Given the description of an element on the screen output the (x, y) to click on. 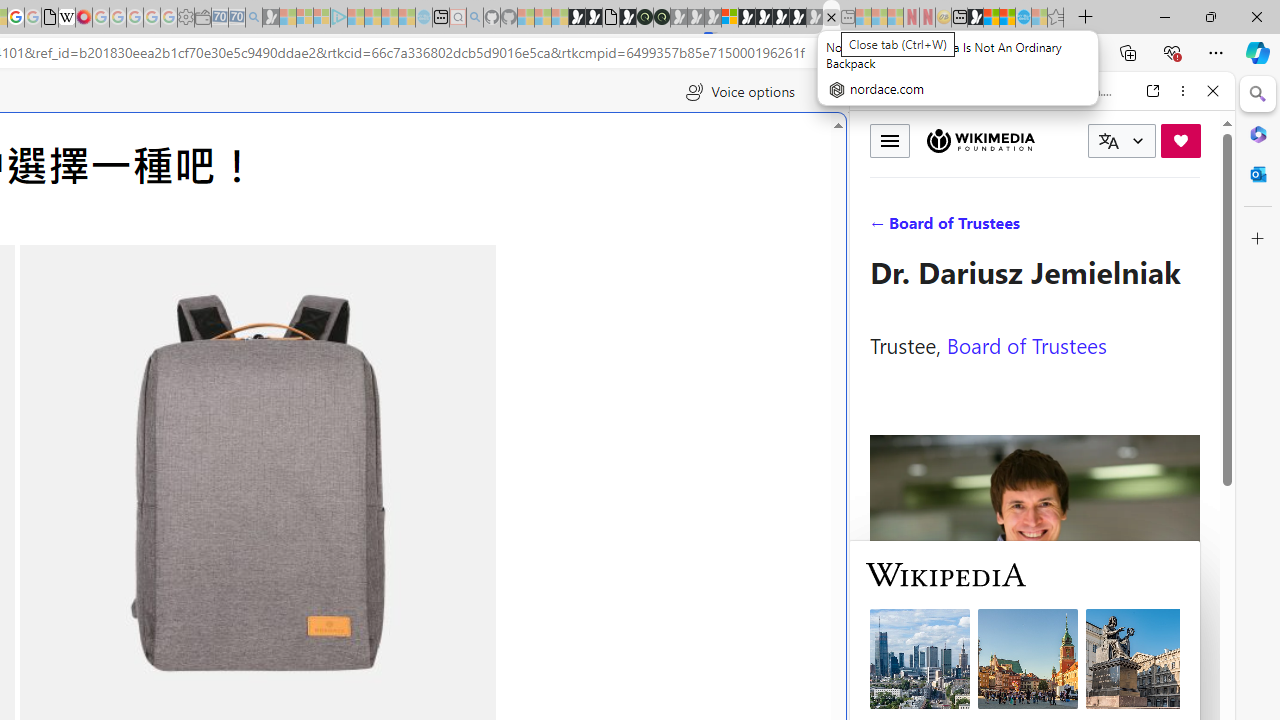
Services - Maintenance | Sky Blue Bikes - Sky Blue Bikes (1023, 17)
Search or enter web address (343, 191)
Earth has six continents not seven, radical new study claims (1007, 17)
